Given the description of an element on the screen output the (x, y) to click on. 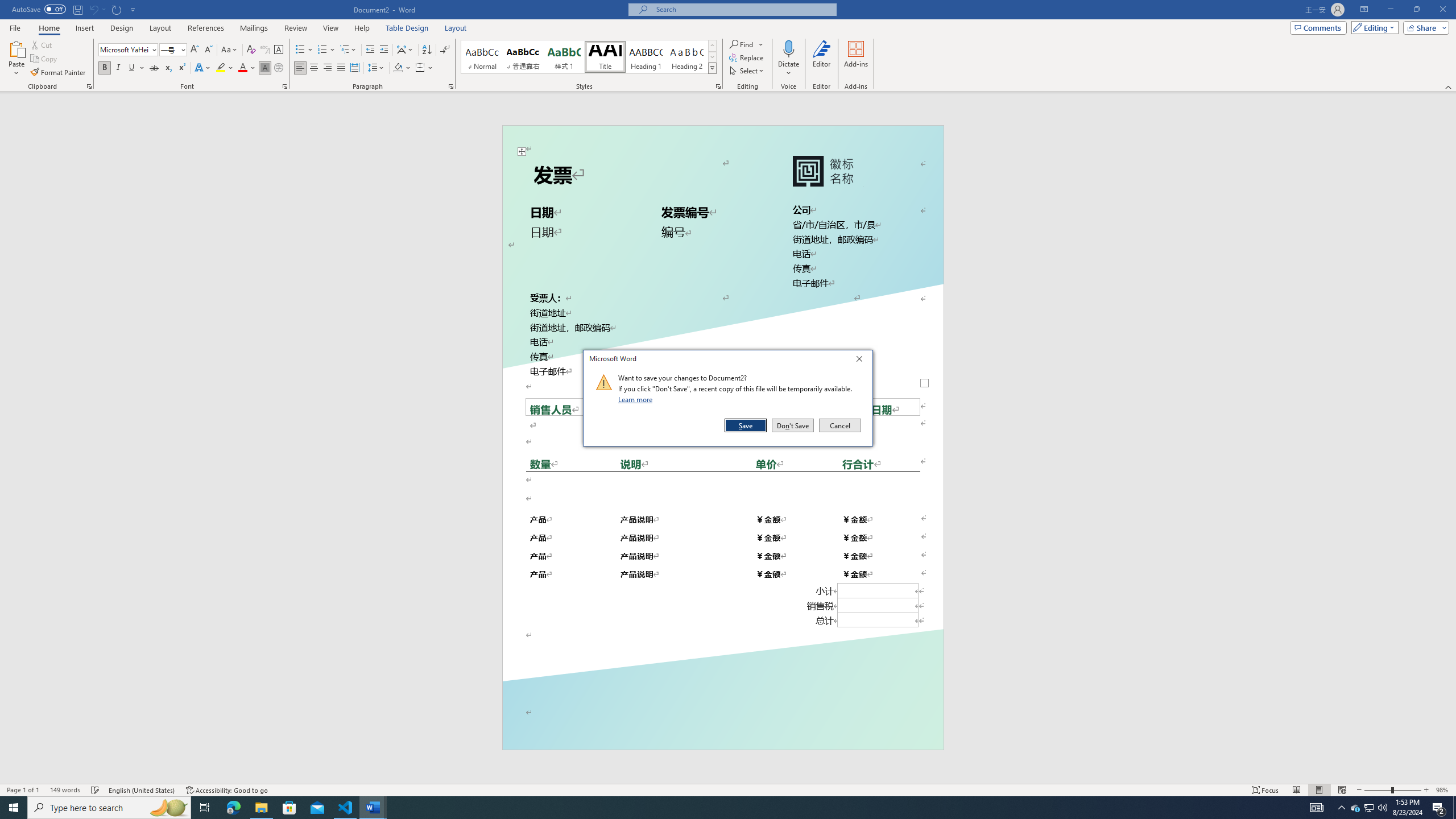
Can't Undo (96, 9)
Learn more (636, 399)
